Given the description of an element on the screen output the (x, y) to click on. 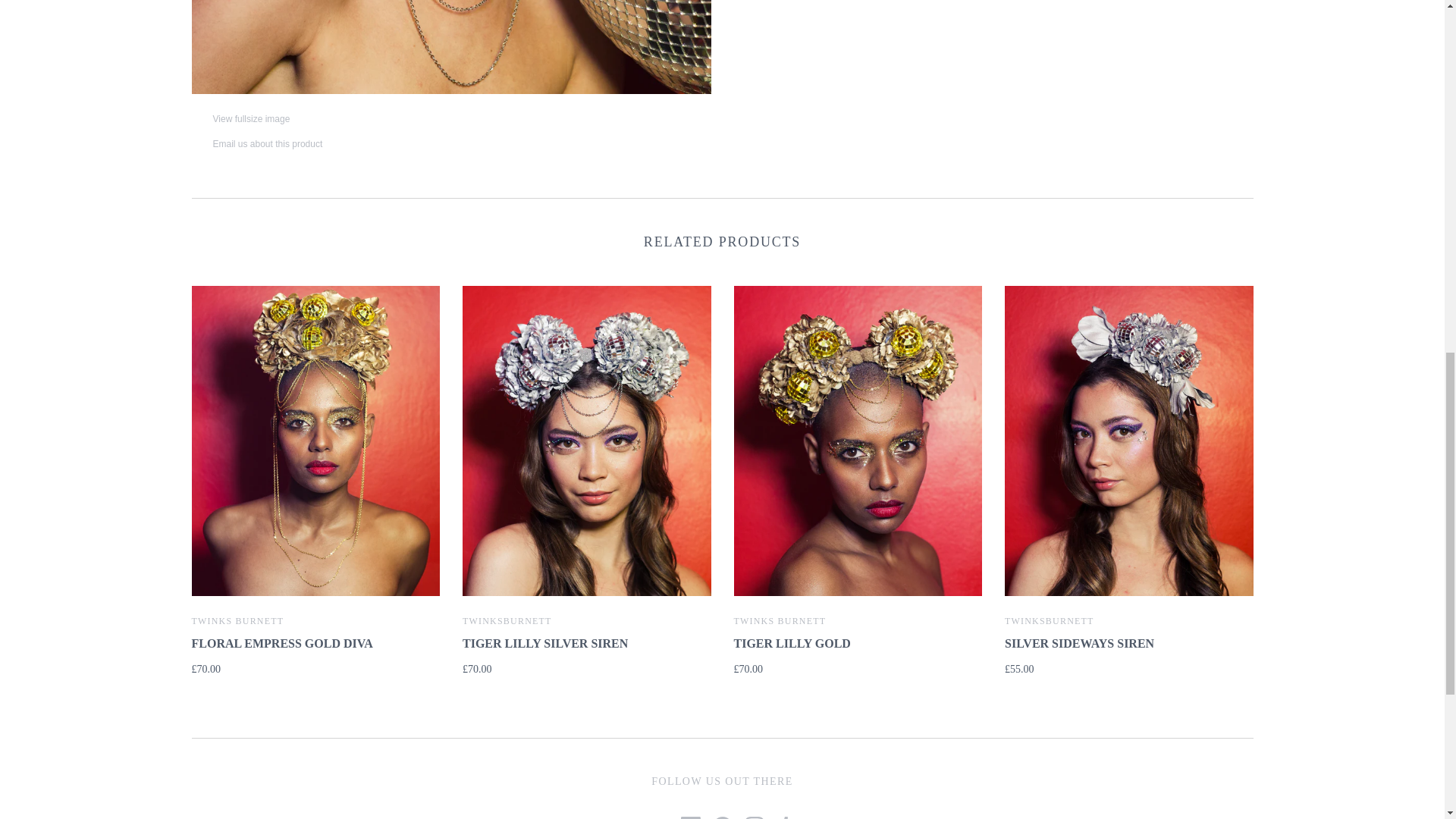
Twinks Burnett (780, 620)
Twinks Burnett (236, 620)
twinksburnett (1049, 620)
twinksburnett (507, 620)
